Given the description of an element on the screen output the (x, y) to click on. 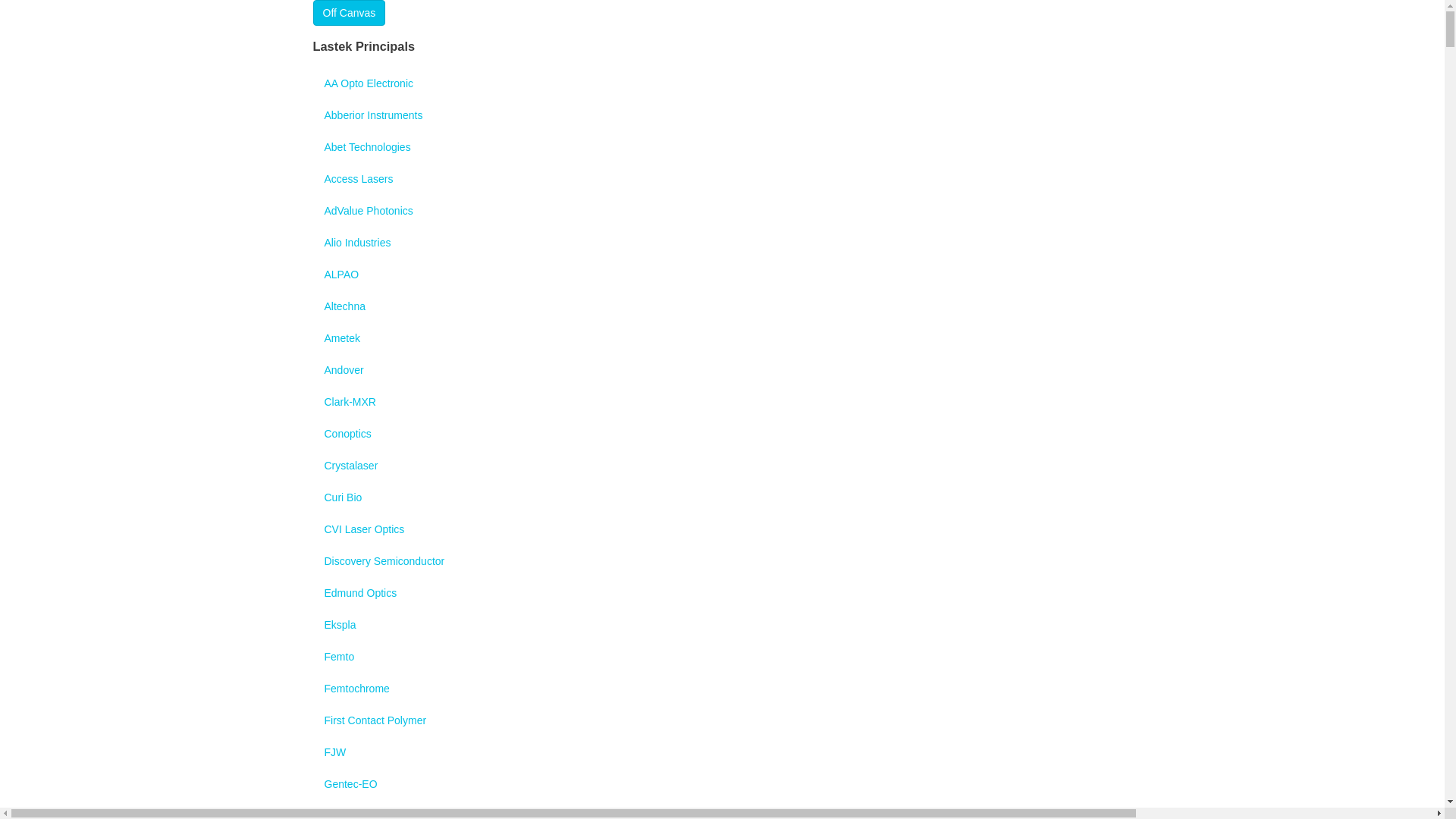
Altechna Element type: text (721, 306)
Clark-MXR Element type: text (721, 401)
Conoptics Element type: text (721, 433)
Access Lasers Element type: text (721, 178)
Edmund Optics Element type: text (721, 592)
AdValue Photonics Element type: text (721, 210)
Femto Element type: text (721, 656)
Alio Industries Element type: text (721, 242)
Ekspla Element type: text (721, 624)
FJW Element type: text (721, 752)
ALPAO Element type: text (721, 274)
Off Canvas Element type: text (348, 12)
Andover Element type: text (721, 369)
Discovery Semiconductor Element type: text (721, 561)
AA Opto Electronic Element type: text (721, 83)
Femtochrome Element type: text (721, 688)
First Contact Polymer Element type: text (721, 720)
Crystalaser Element type: text (721, 465)
Curi Bio Element type: text (721, 497)
CVI Laser Optics Element type: text (721, 529)
Abet Technologies Element type: text (721, 146)
Gentec-EO Element type: text (721, 783)
Ametek Element type: text (721, 338)
Abberior Instruments Element type: text (721, 115)
